Given the description of an element on the screen output the (x, y) to click on. 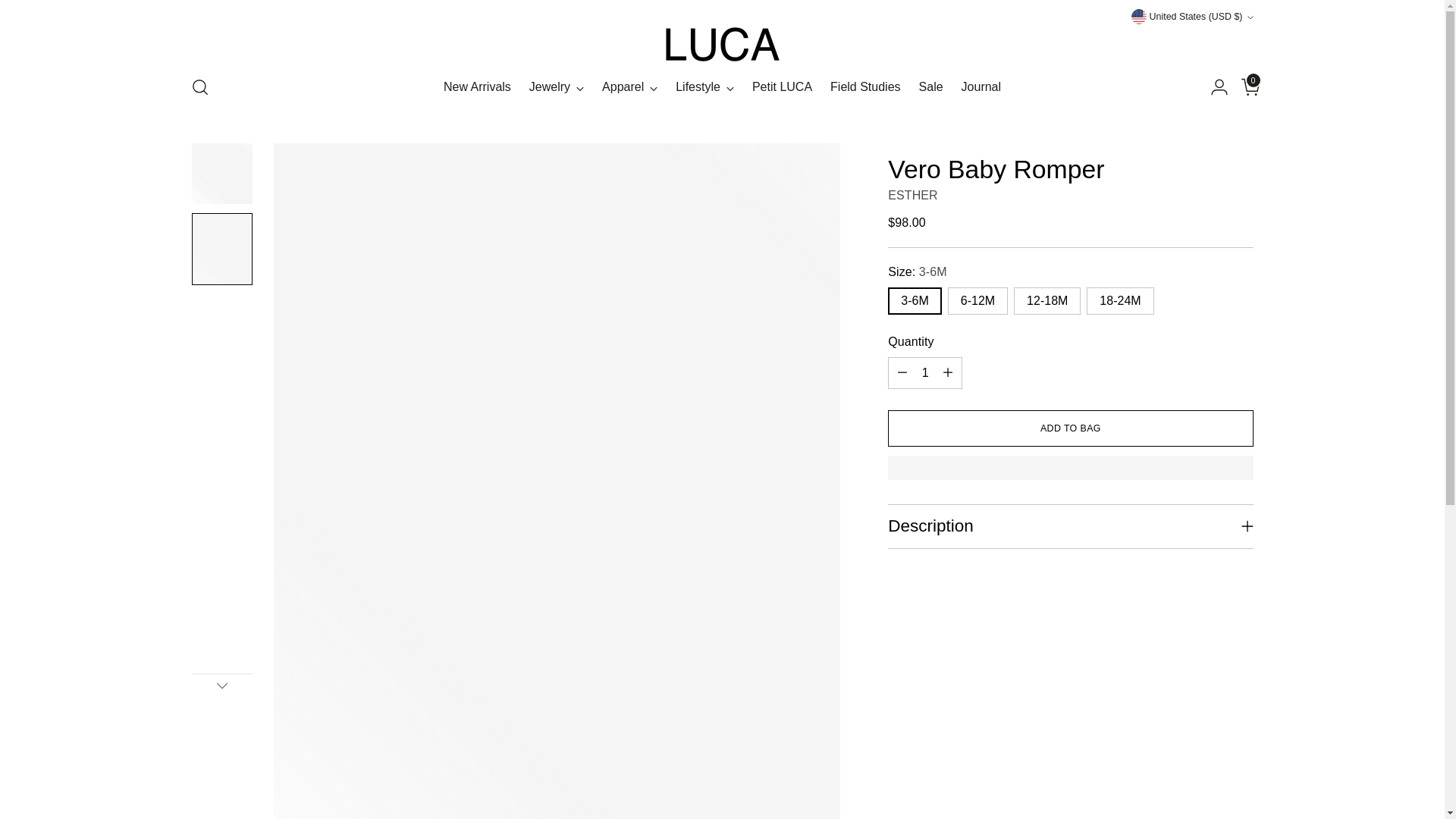
ESTHER (912, 195)
Down (220, 685)
1 (925, 372)
